Given the description of an element on the screen output the (x, y) to click on. 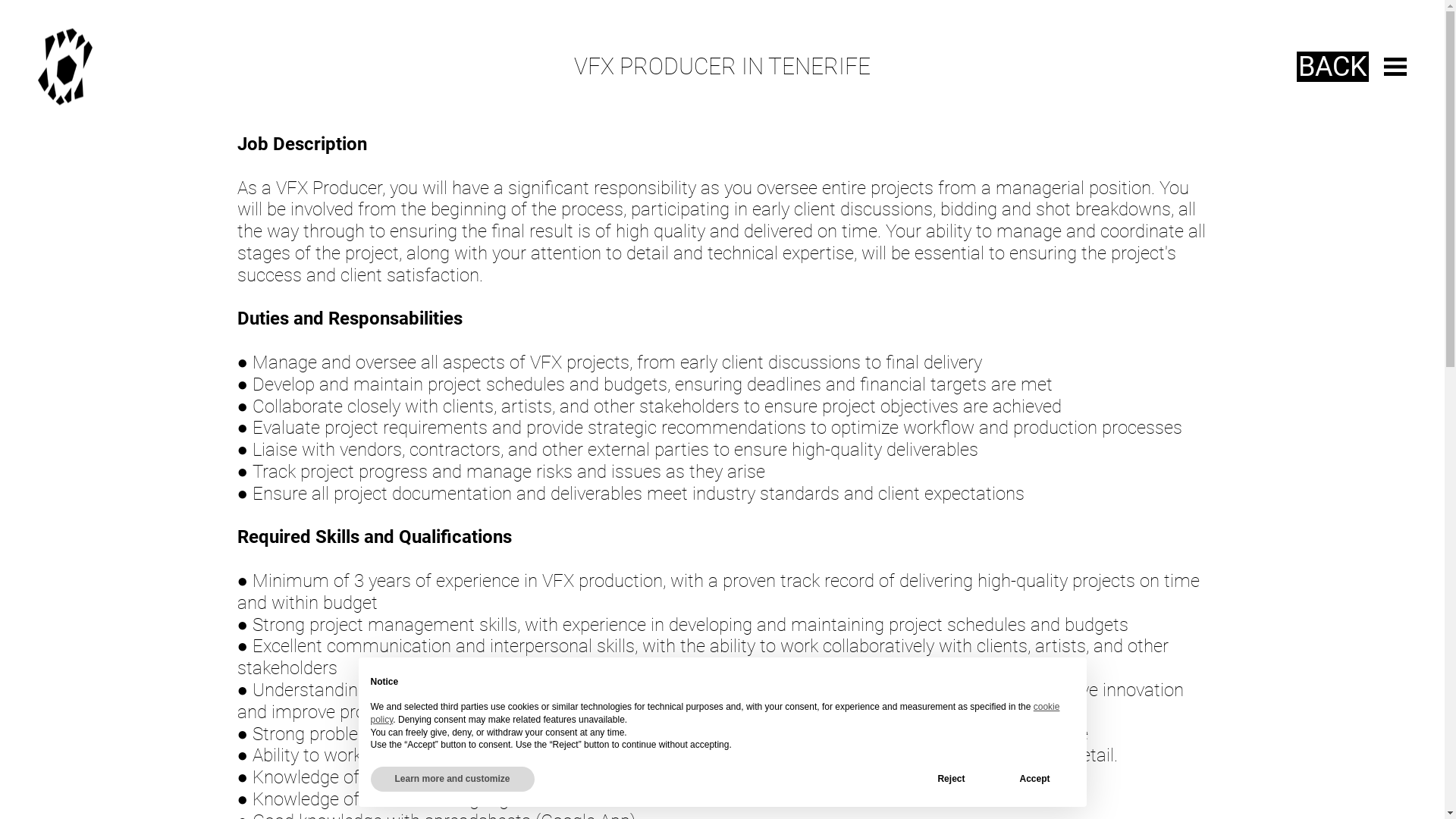
ITA Element type: hover (75, 66)
cookie policy Element type: text (714, 712)
Learn more and customize Element type: text (451, 778)
Reject Element type: text (950, 778)
Accept Element type: text (1033, 778)
BACK Element type: text (1332, 66)
